Given the description of an element on the screen output the (x, y) to click on. 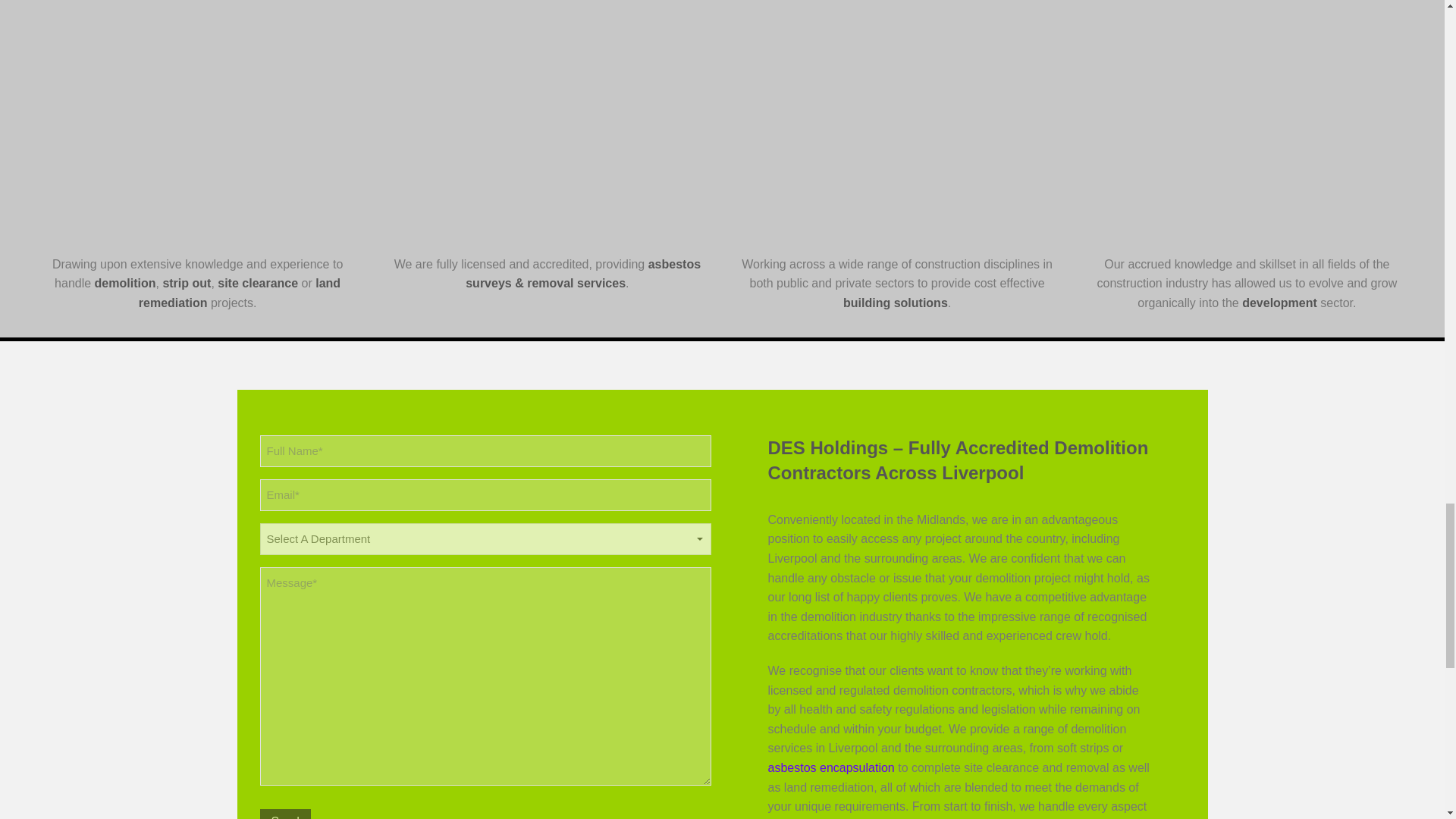
Send (284, 814)
Send (284, 814)
